Given the description of an element on the screen output the (x, y) to click on. 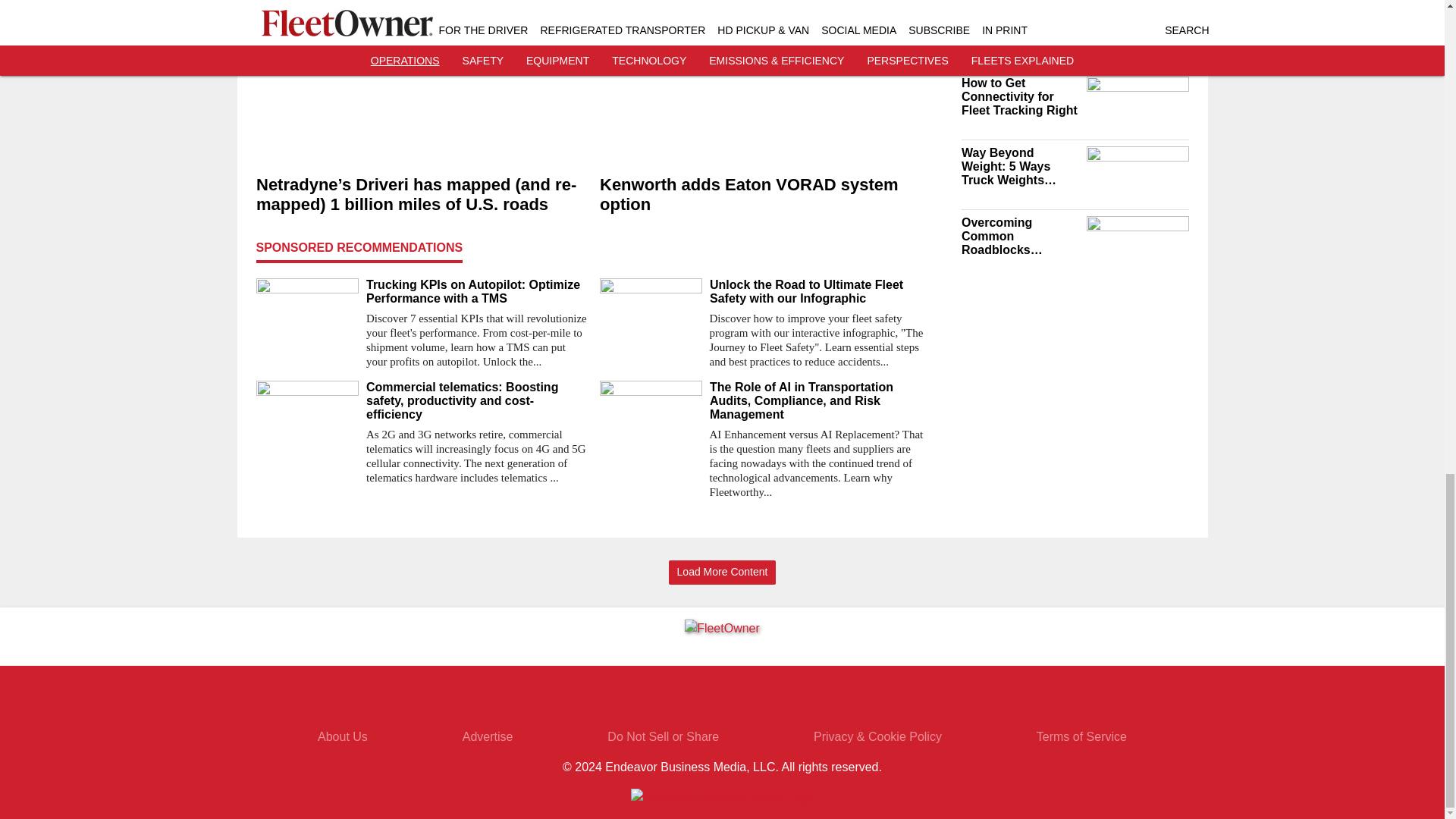
Kenworth adds Eaton VORAD system option (764, 195)
Trucking KPIs on Autopilot: Optimize Performance with a TMS (476, 291)
